Given the description of an element on the screen output the (x, y) to click on. 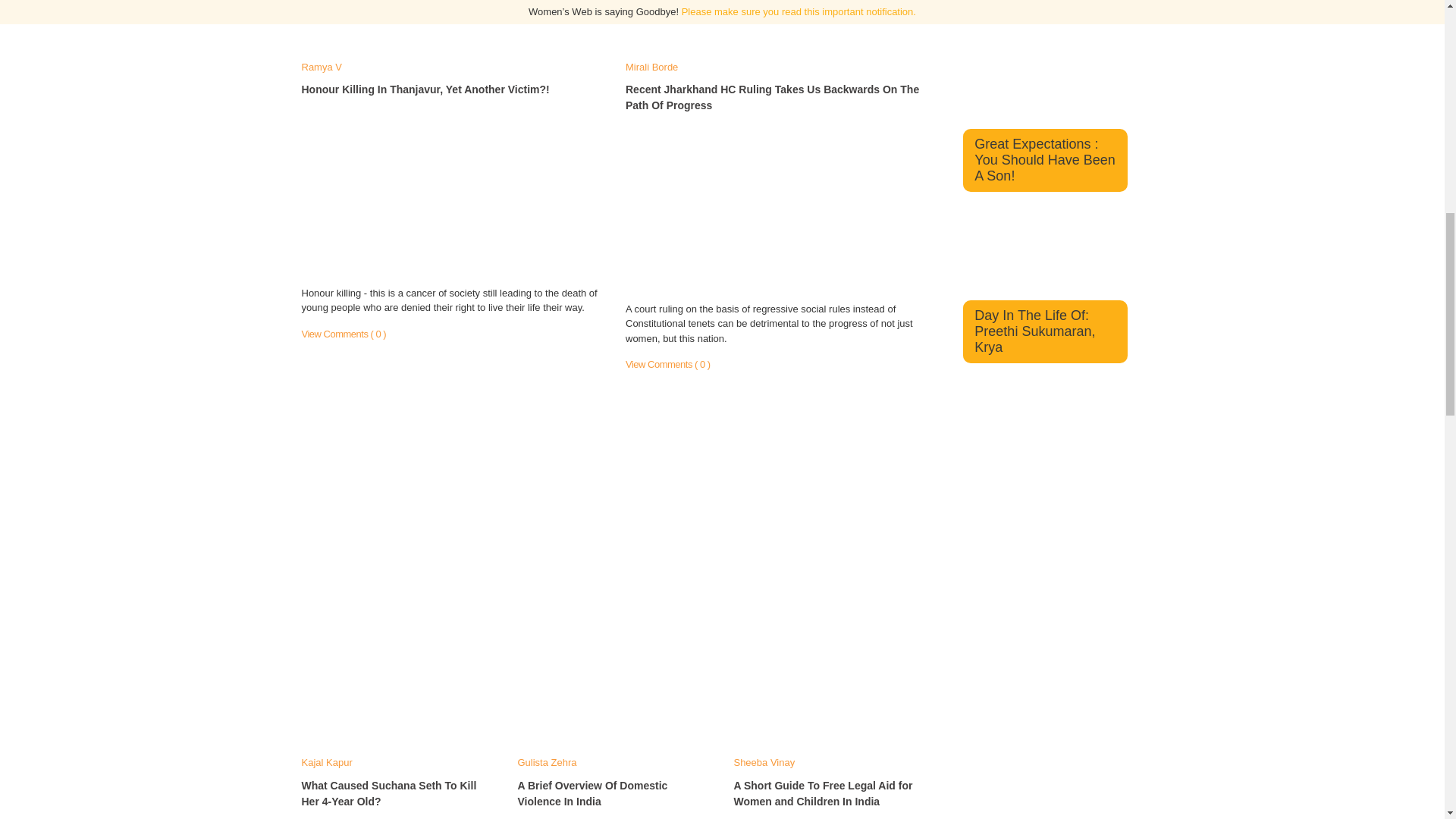
Day In The Life Of: Preethi Sukumaran, Krya (1034, 330)
Great Expectations : You Should Have Been A Son! (1044, 159)
Day In The Life Of: Preethi Sukumaran, Krya (1045, 274)
Great Expectations : You Should Have Been A Son! (1045, 102)
